Given the description of an element on the screen output the (x, y) to click on. 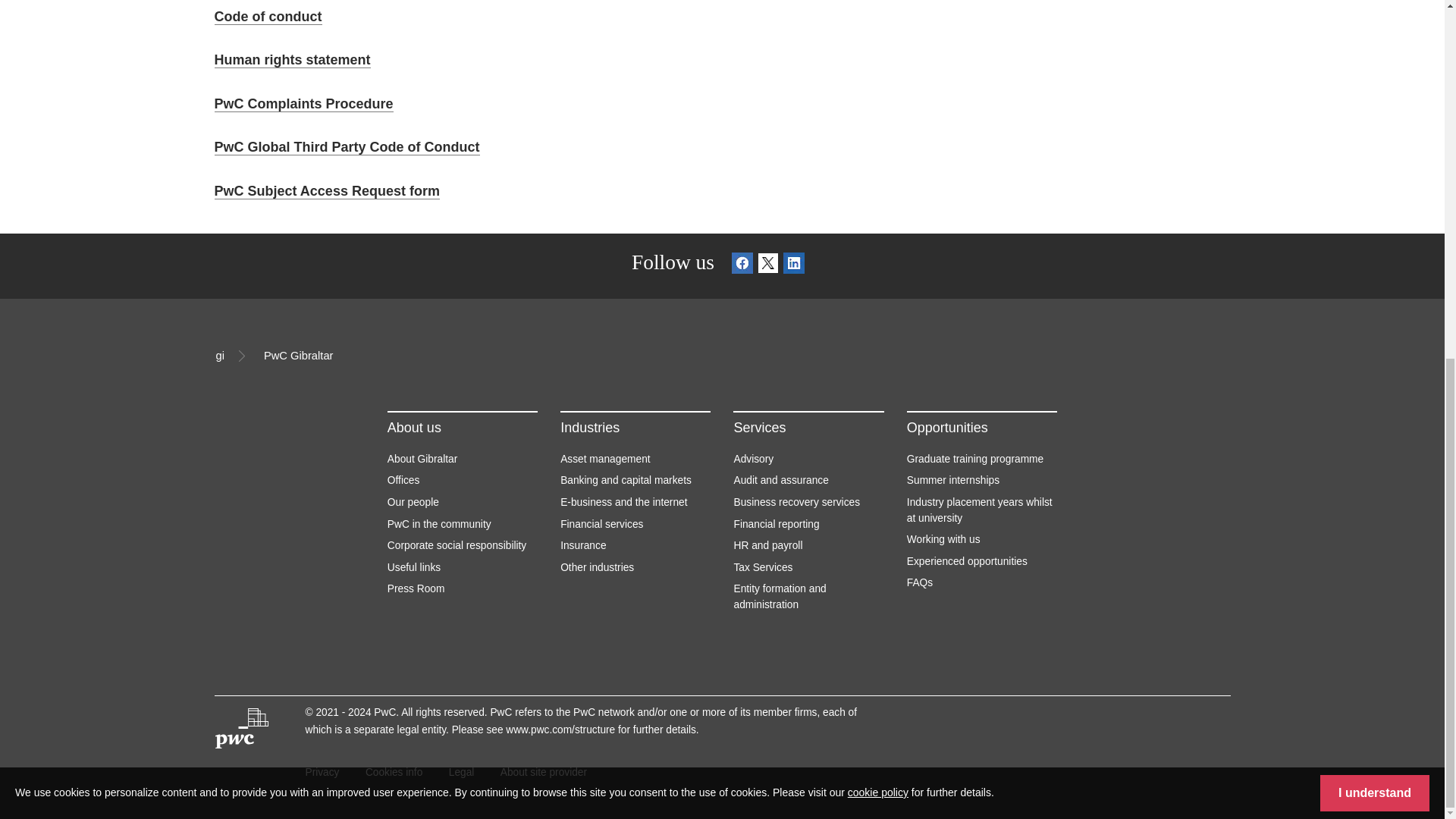
I understand (1374, 159)
gi PwC Gibraltar (722, 358)
cookie policy (877, 159)
